Given the description of an element on the screen output the (x, y) to click on. 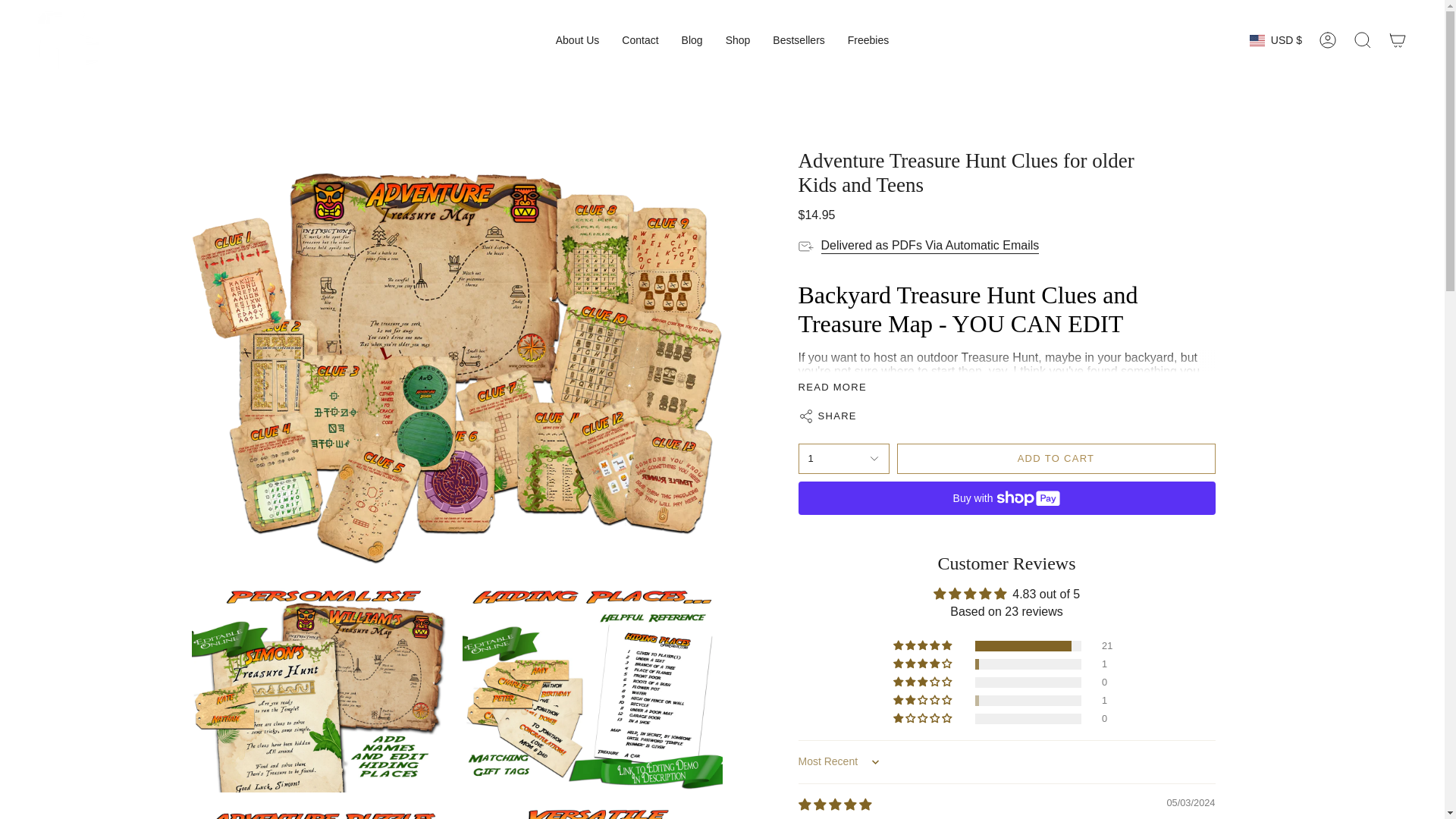
Cart (1397, 40)
Search (1362, 40)
My Account (1327, 40)
